Given the description of an element on the screen output the (x, y) to click on. 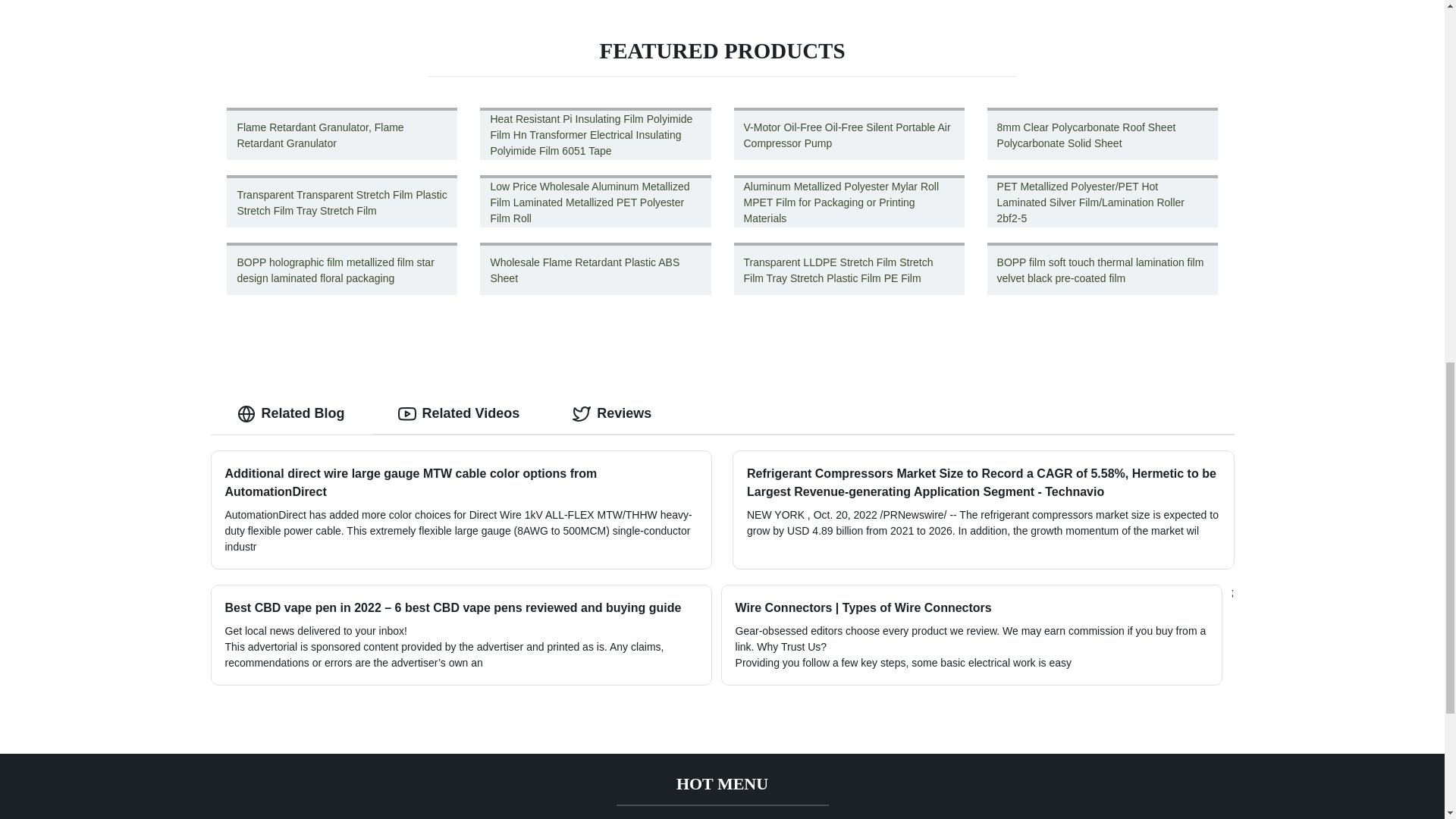
8mm Clear Polycarbonate Roof Sheet Polycarbonate Solid Sheet (1101, 133)
Flame Retardant Granulator, Flame Retardant Granulator (341, 133)
